Given the description of an element on the screen output the (x, y) to click on. 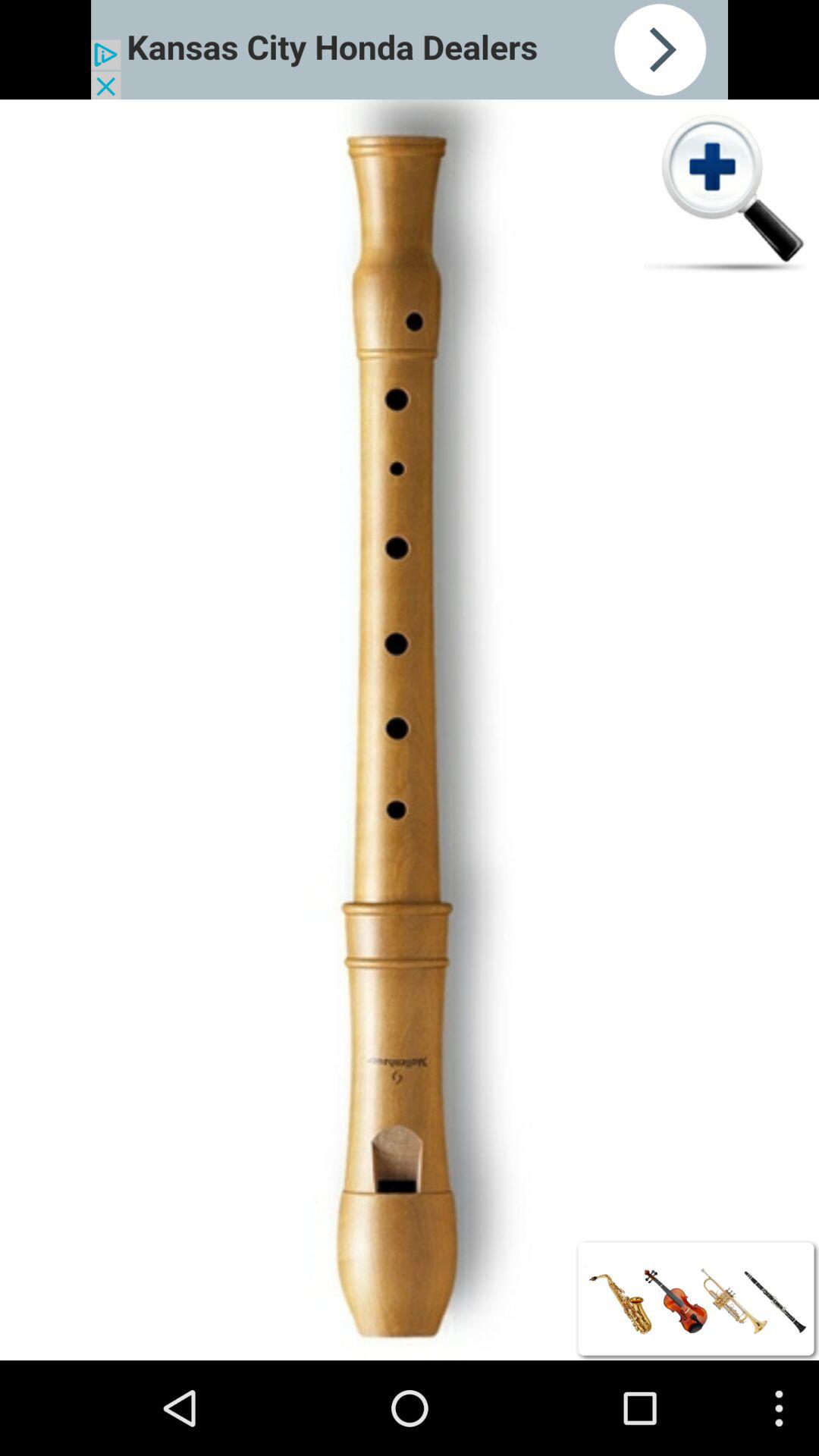
go to advertisement site (409, 49)
